Given the description of an element on the screen output the (x, y) to click on. 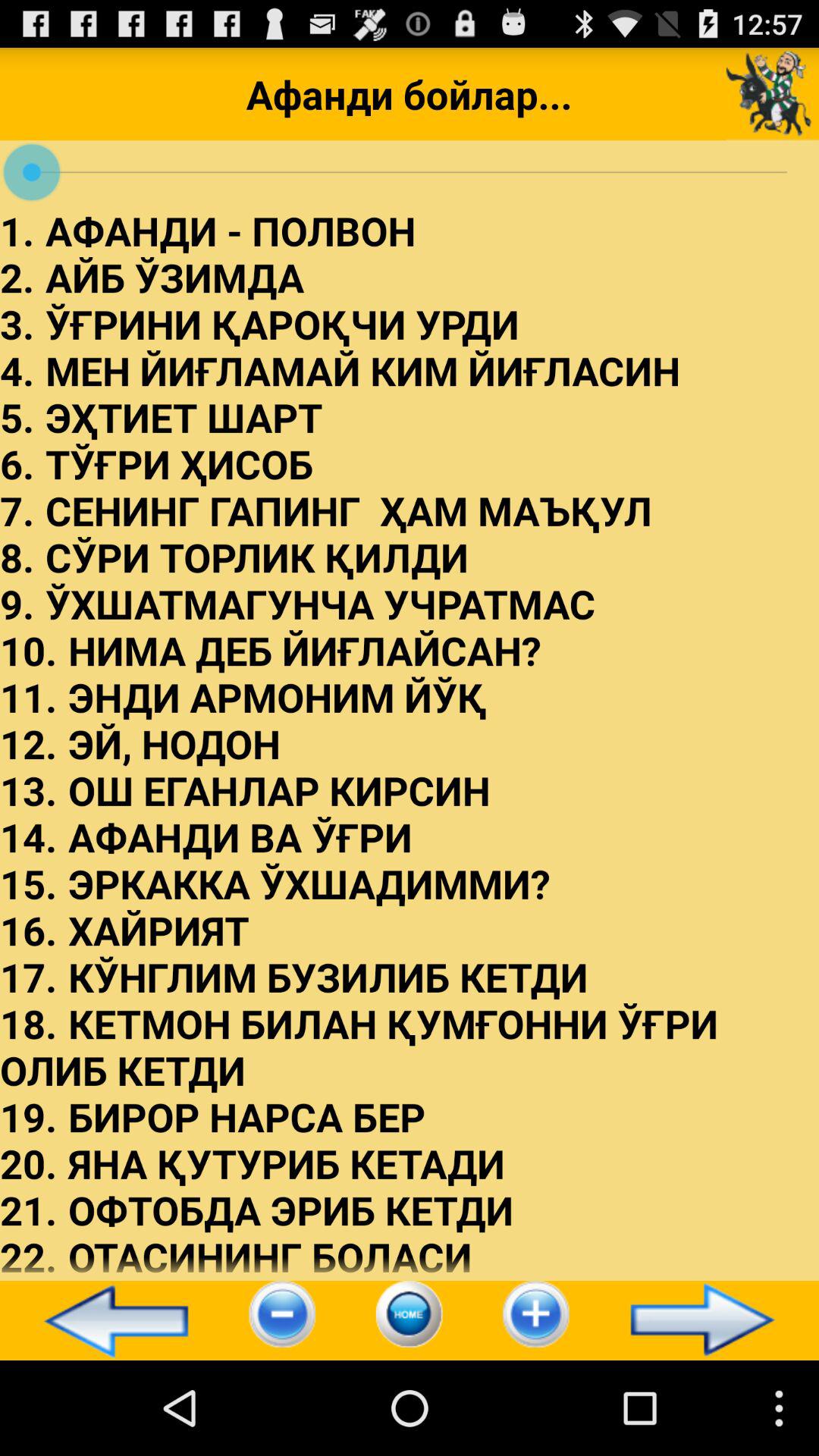
click item at the bottom left corner (109, 1320)
